Given the description of an element on the screen output the (x, y) to click on. 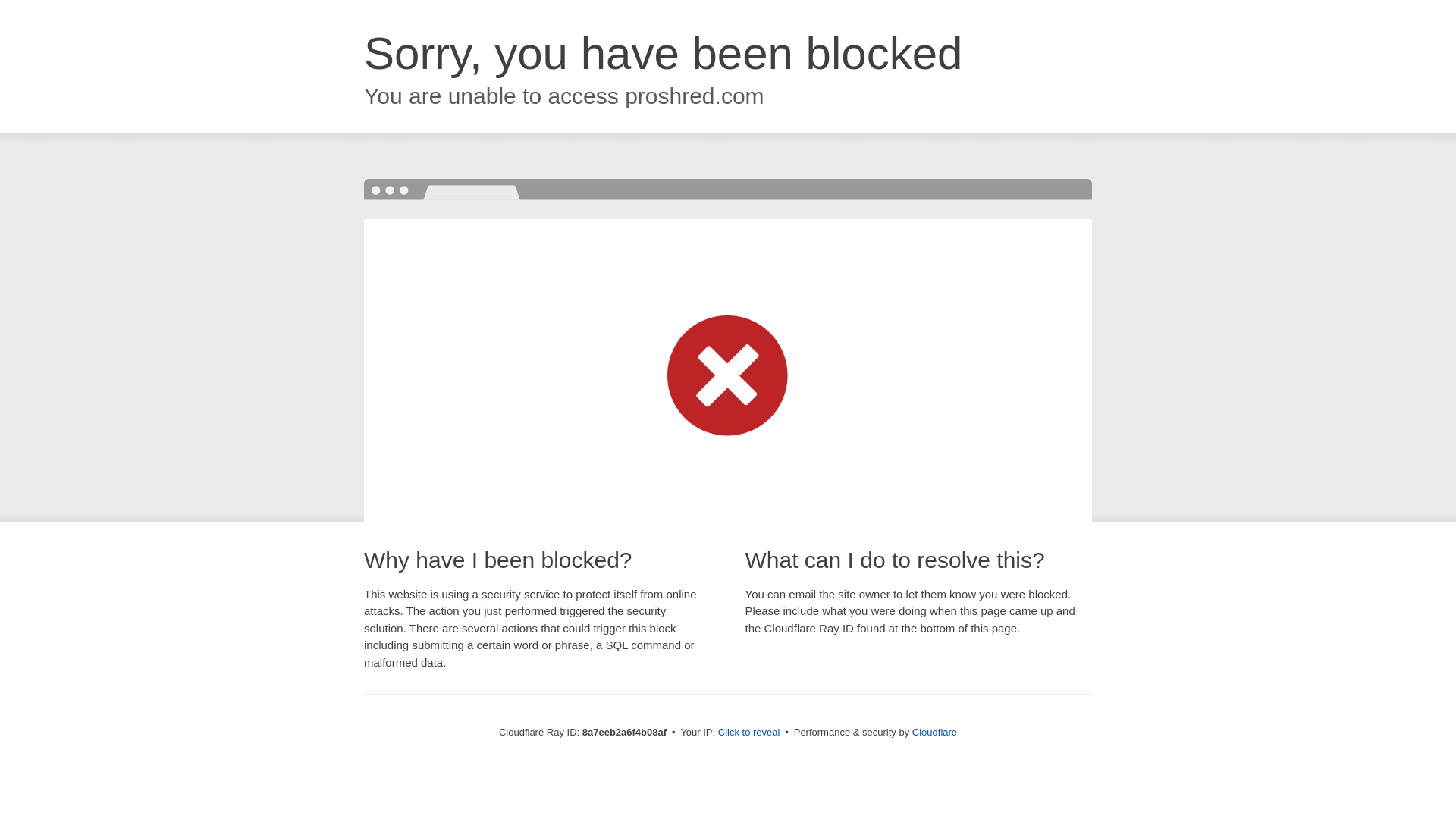
Click to reveal (748, 732)
Cloudflare (934, 731)
